Given the description of an element on the screen output the (x, y) to click on. 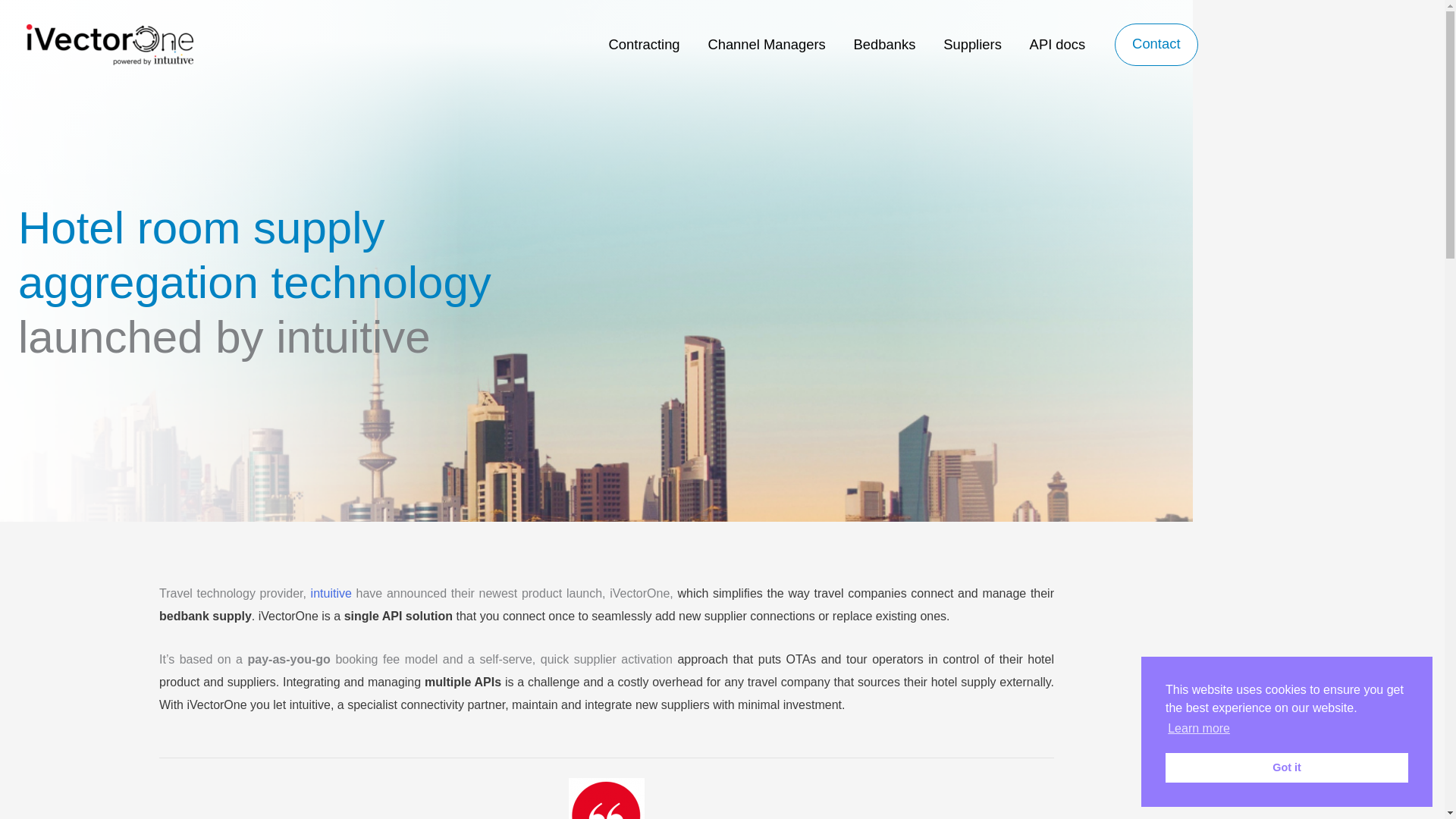
Suppliers (972, 44)
intuitive  (333, 593)
Bedbanks (885, 44)
Contracting (644, 44)
Channel Managers (767, 44)
bulina quotes (607, 798)
Contact (1156, 44)
API docs (1056, 44)
